Given the description of an element on the screen output the (x, y) to click on. 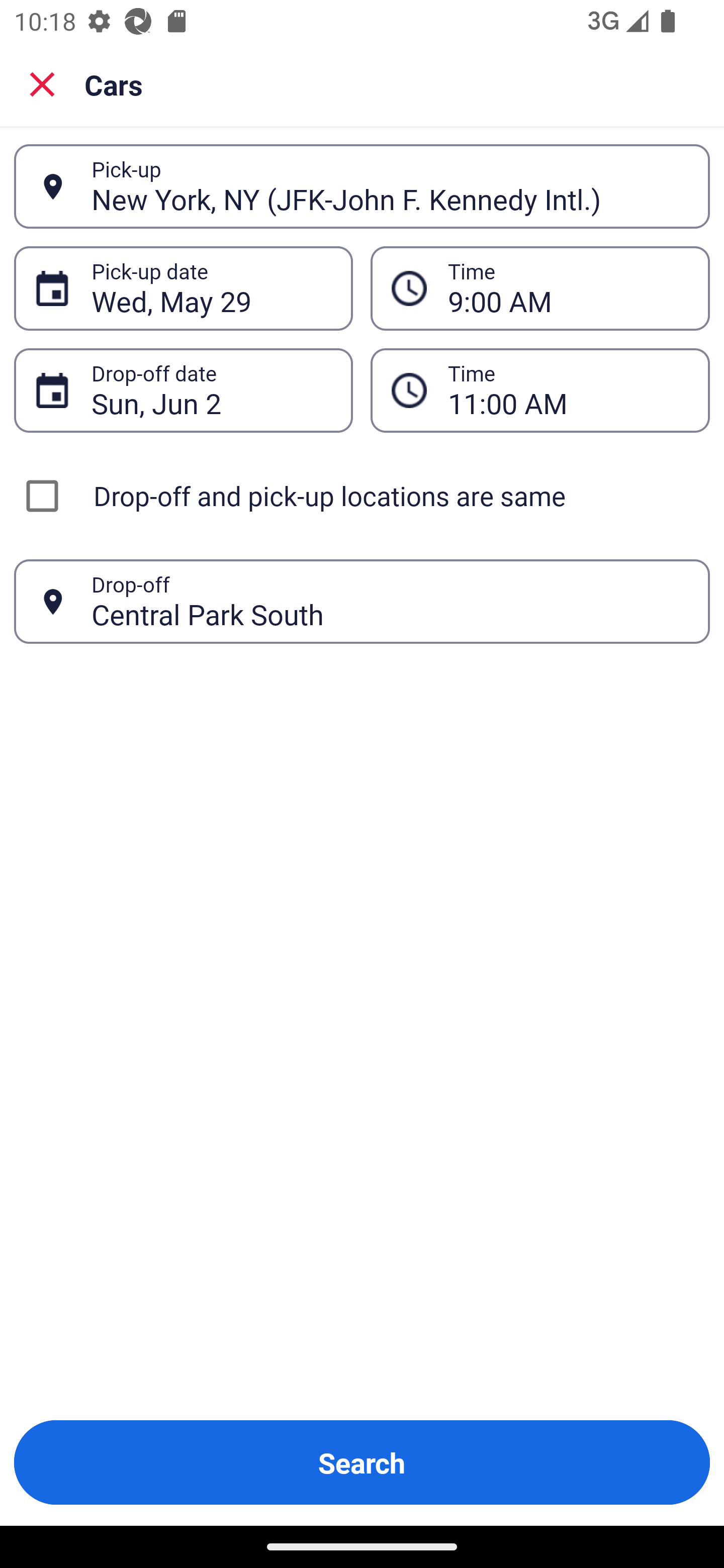
Close search screen (41, 83)
New York, NY (JFK-John F. Kennedy Intl.) Pick-up (361, 186)
New York, NY (JFK-John F. Kennedy Intl.) (389, 186)
Wed, May 29 Pick-up date (183, 288)
9:00 AM (540, 288)
Wed, May 29 (211, 288)
9:00 AM (568, 288)
Sun, Jun 2 Drop-off date (183, 390)
11:00 AM (540, 390)
Sun, Jun 2 (211, 390)
11:00 AM (568, 390)
Drop-off and pick-up locations are same (361, 495)
Central Park South Drop-off (361, 601)
Central Park South (389, 601)
Search Button Search (361, 1462)
